Given the description of an element on the screen output the (x, y) to click on. 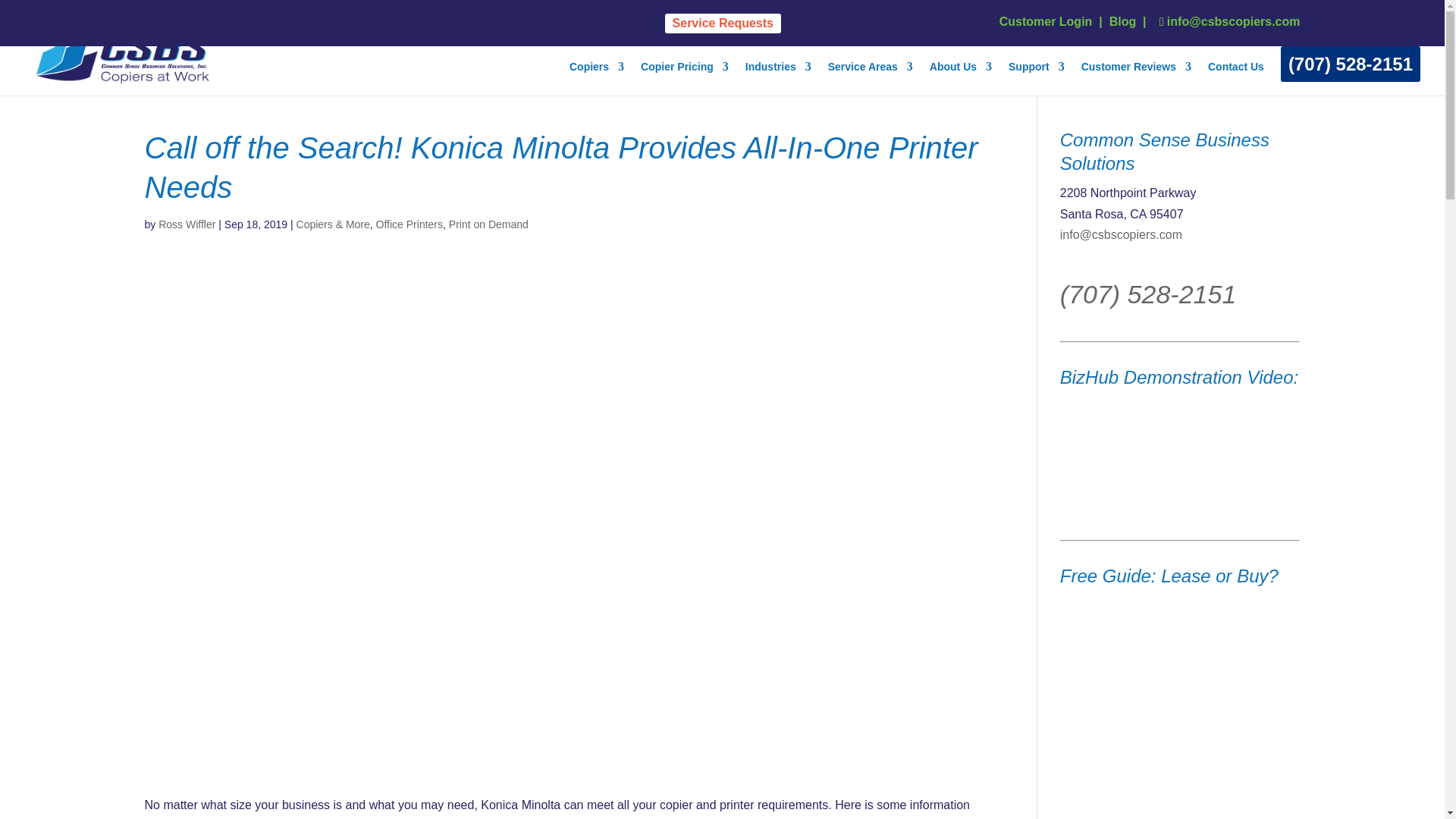
Customer Login (1045, 21)
Common Sense Business Solutions (960, 78)
Copiers (596, 78)
Blog (1123, 21)
Industries (777, 78)
Copier Pricing (684, 78)
Service Requests (722, 23)
YouTube video player (1173, 454)
Posts by Ross Wiffler (186, 224)
Service Areas (870, 78)
